Given the description of an element on the screen output the (x, y) to click on. 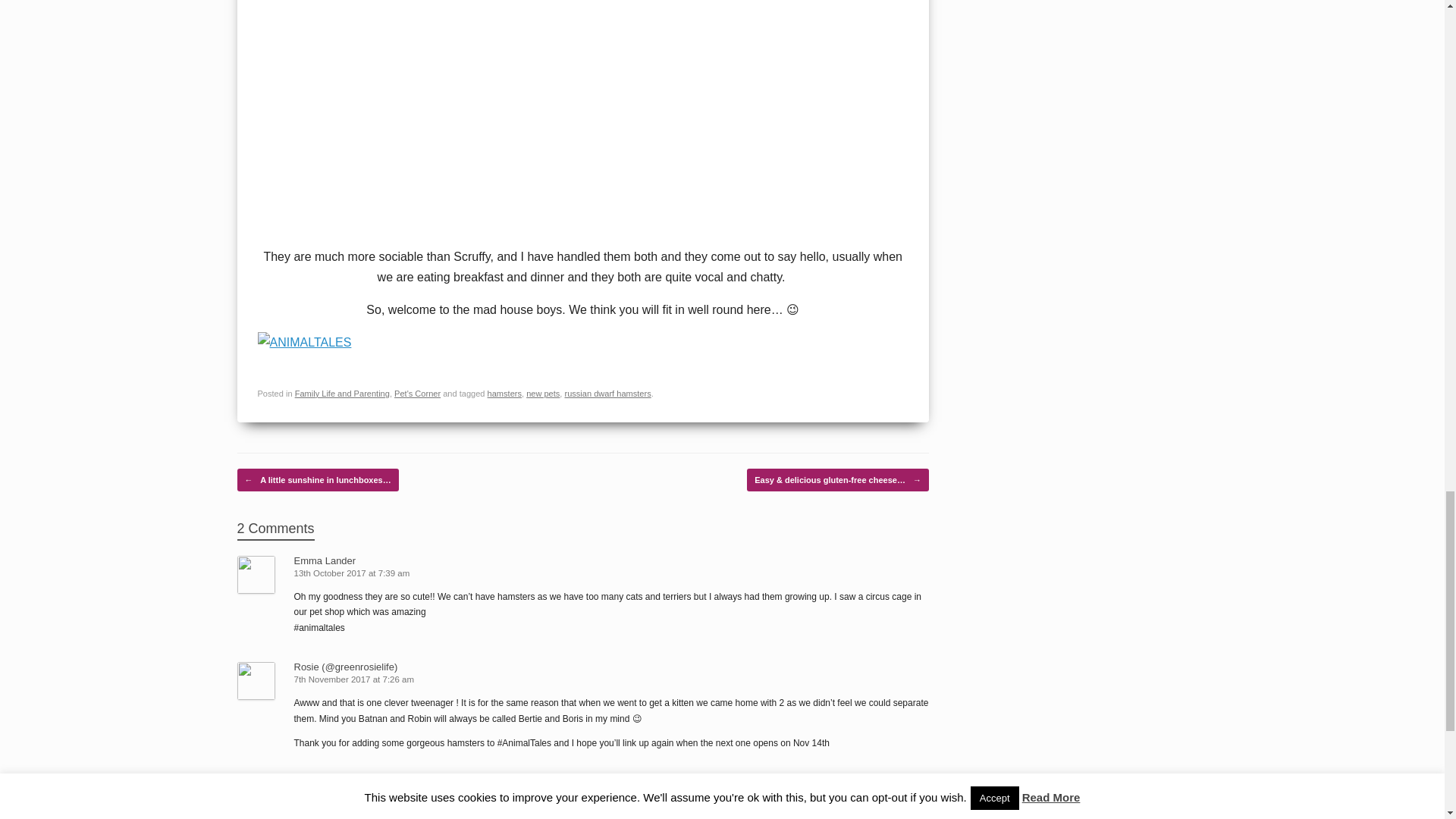
Pet's Corner (417, 393)
7th November 2017 at 7:26 am (355, 678)
13th October 2017 at 7:39 am (353, 573)
new pets (542, 393)
hamsters (504, 393)
russian dwarf hamsters (607, 393)
Family Life and Parenting (342, 393)
Emma Lander (325, 560)
